Given the description of an element on the screen output the (x, y) to click on. 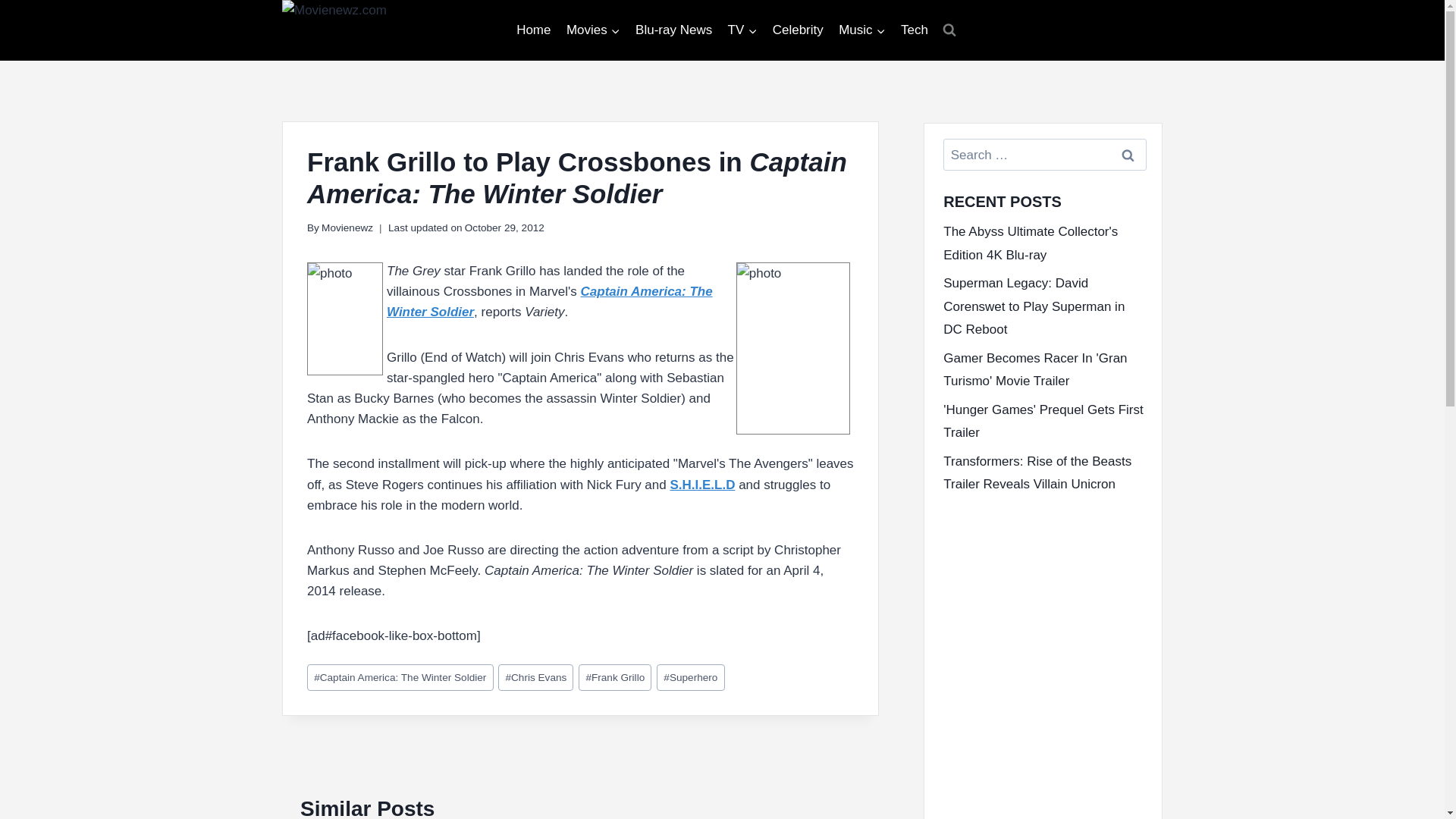
TV (741, 30)
Captain America: The Winter Soldier (400, 677)
Blu-ray News (673, 30)
Search (1127, 154)
Superhero (689, 677)
S.H.I.E.L.D (702, 484)
Home (533, 30)
Celebrity (796, 30)
Captain America: The Winter Soldier (550, 301)
Chris Evans (535, 677)
